Given the description of an element on the screen output the (x, y) to click on. 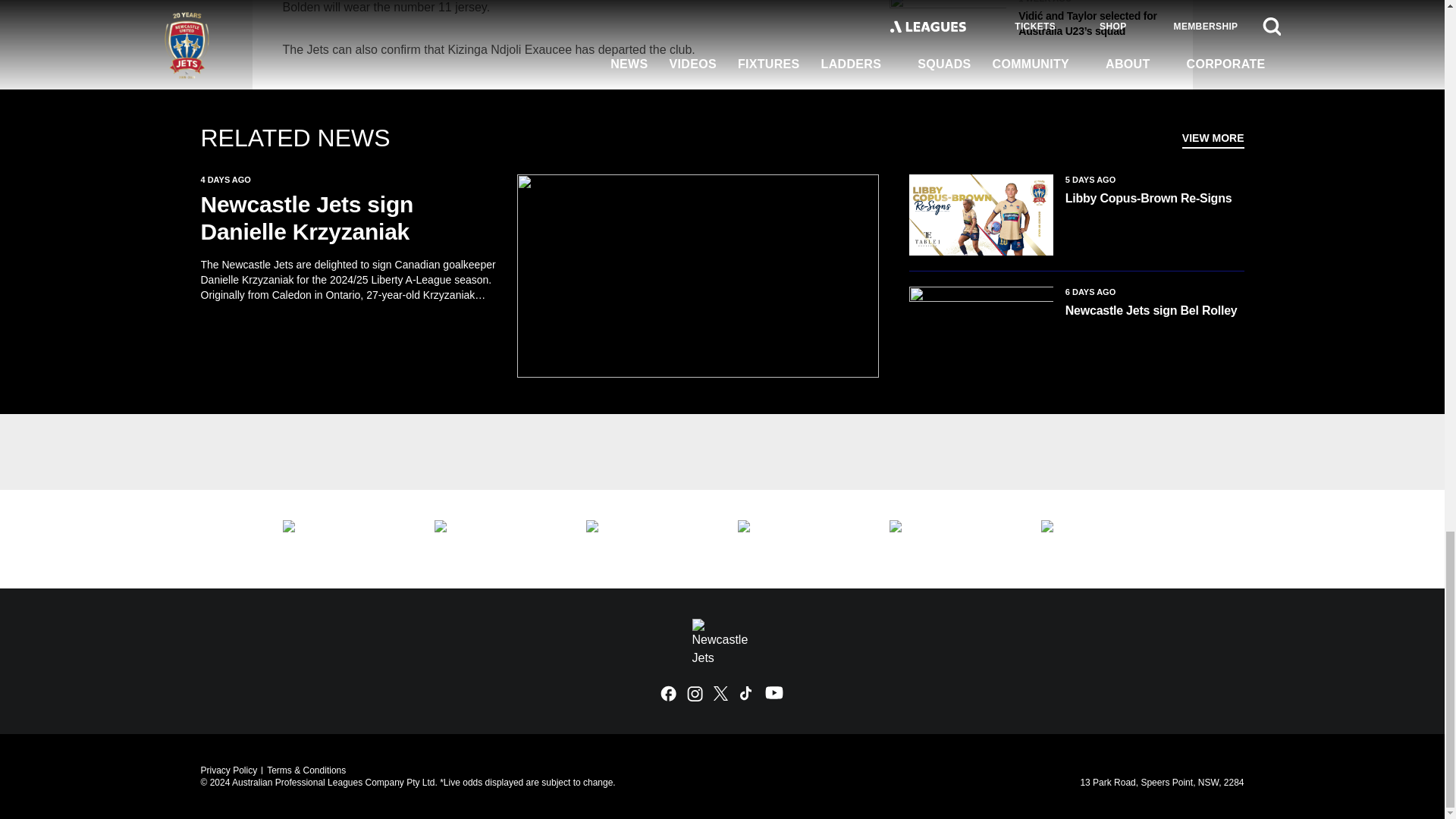
Greater Bank (949, 538)
Legend (645, 538)
Port of Newcastle (1101, 538)
University of Newcastle (493, 538)
AMP Control (797, 538)
Inspirations Paint (342, 538)
